Given the description of an element on the screen output the (x, y) to click on. 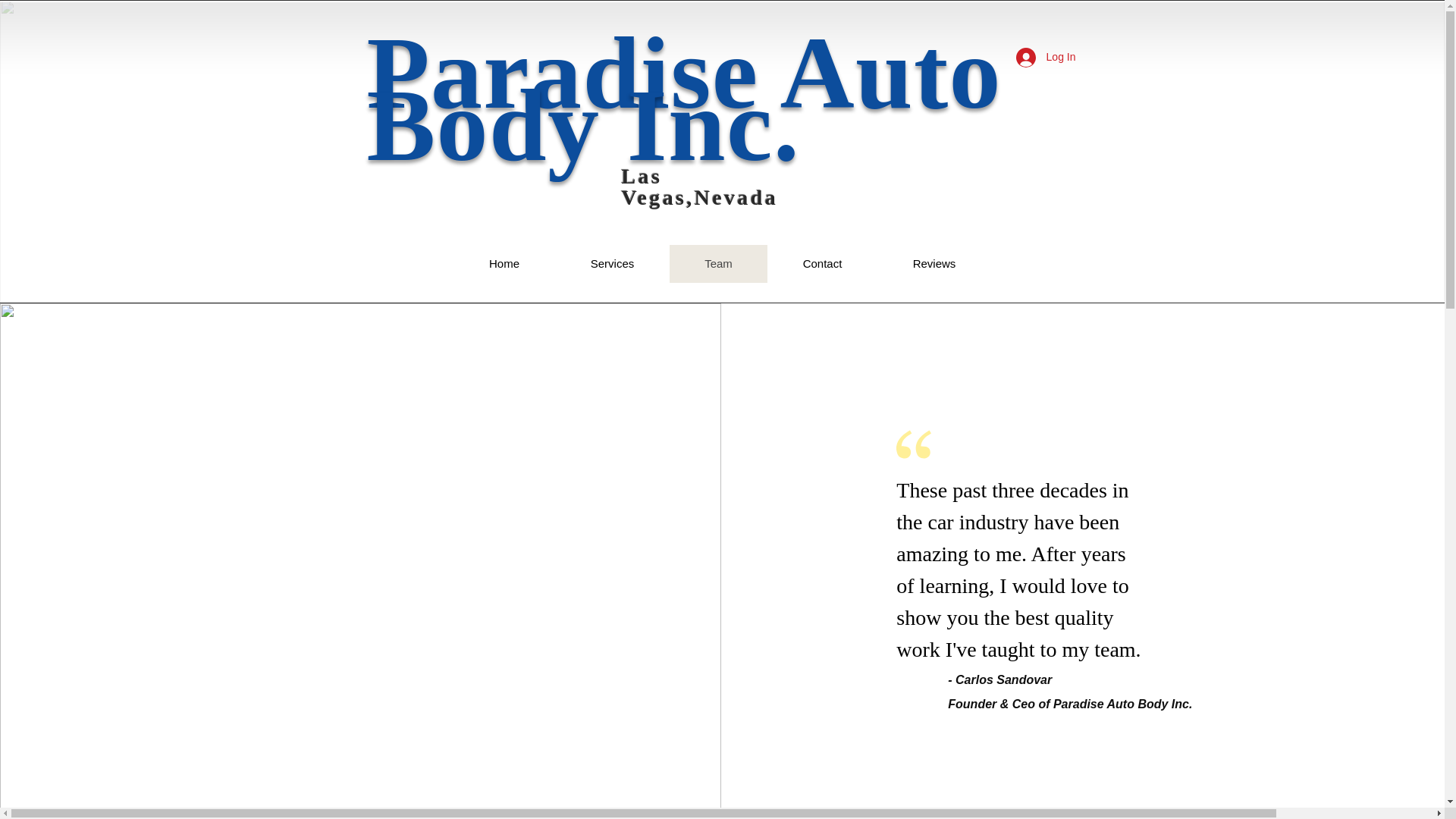
Log In (1046, 57)
Reviews (933, 263)
Services (611, 263)
Home (503, 263)
Team (717, 263)
Contact (822, 263)
